Given the description of an element on the screen output the (x, y) to click on. 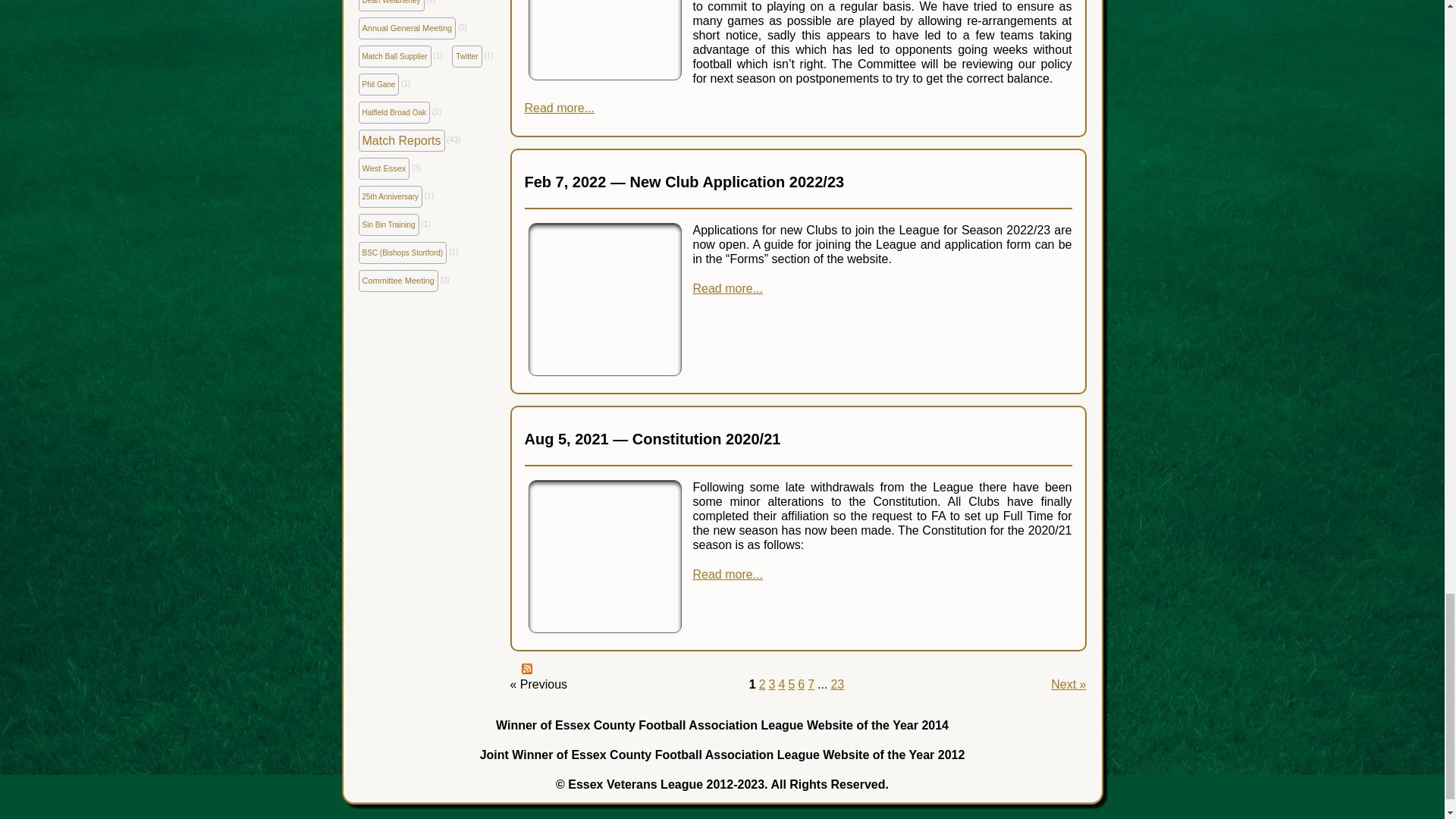
RSS Feed (526, 668)
